Given the description of an element on the screen output the (x, y) to click on. 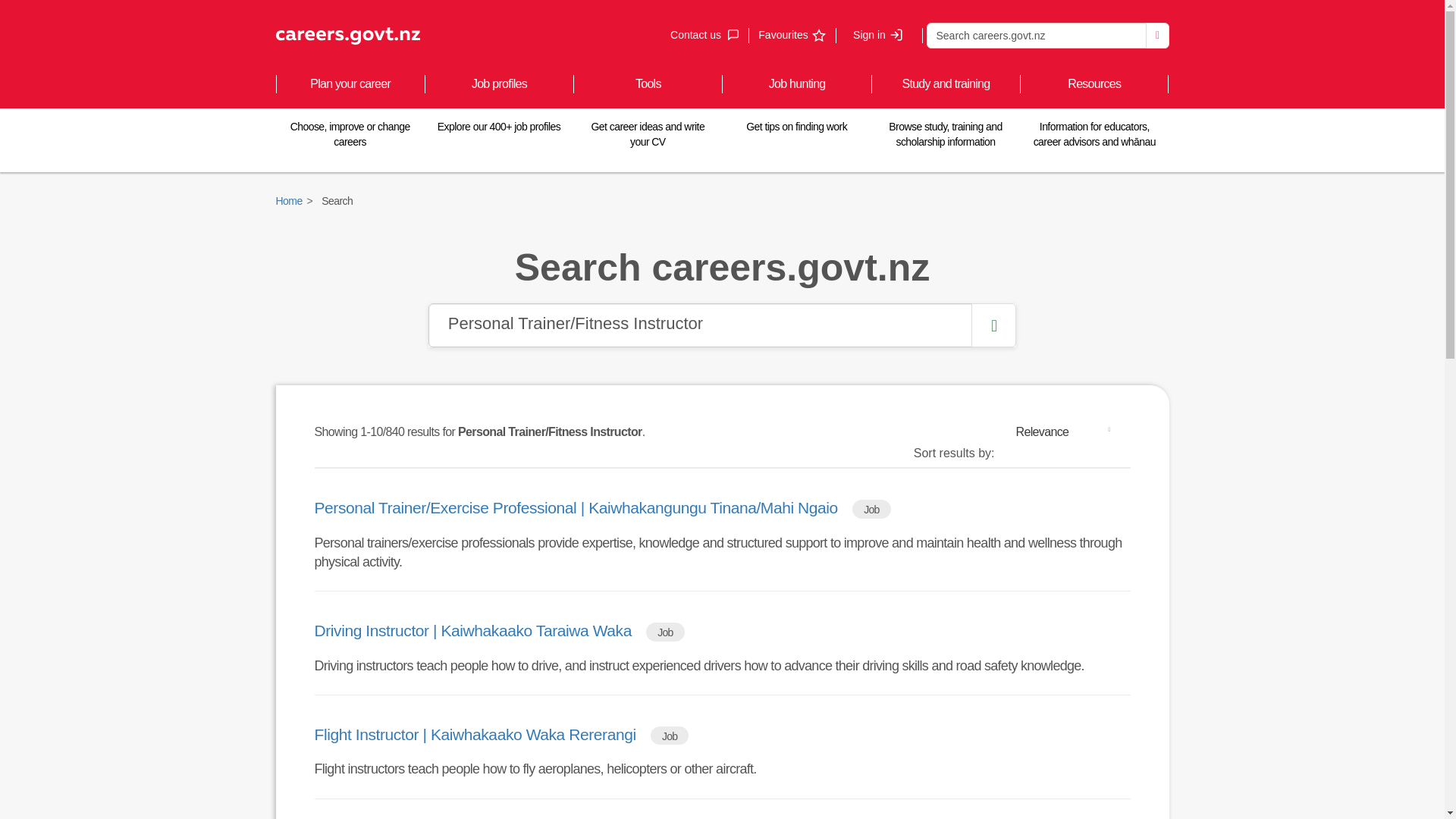
Relevance (1067, 431)
Search (1036, 35)
Search (1157, 35)
Sign in (704, 35)
Favourites (878, 35)
